Given the description of an element on the screen output the (x, y) to click on. 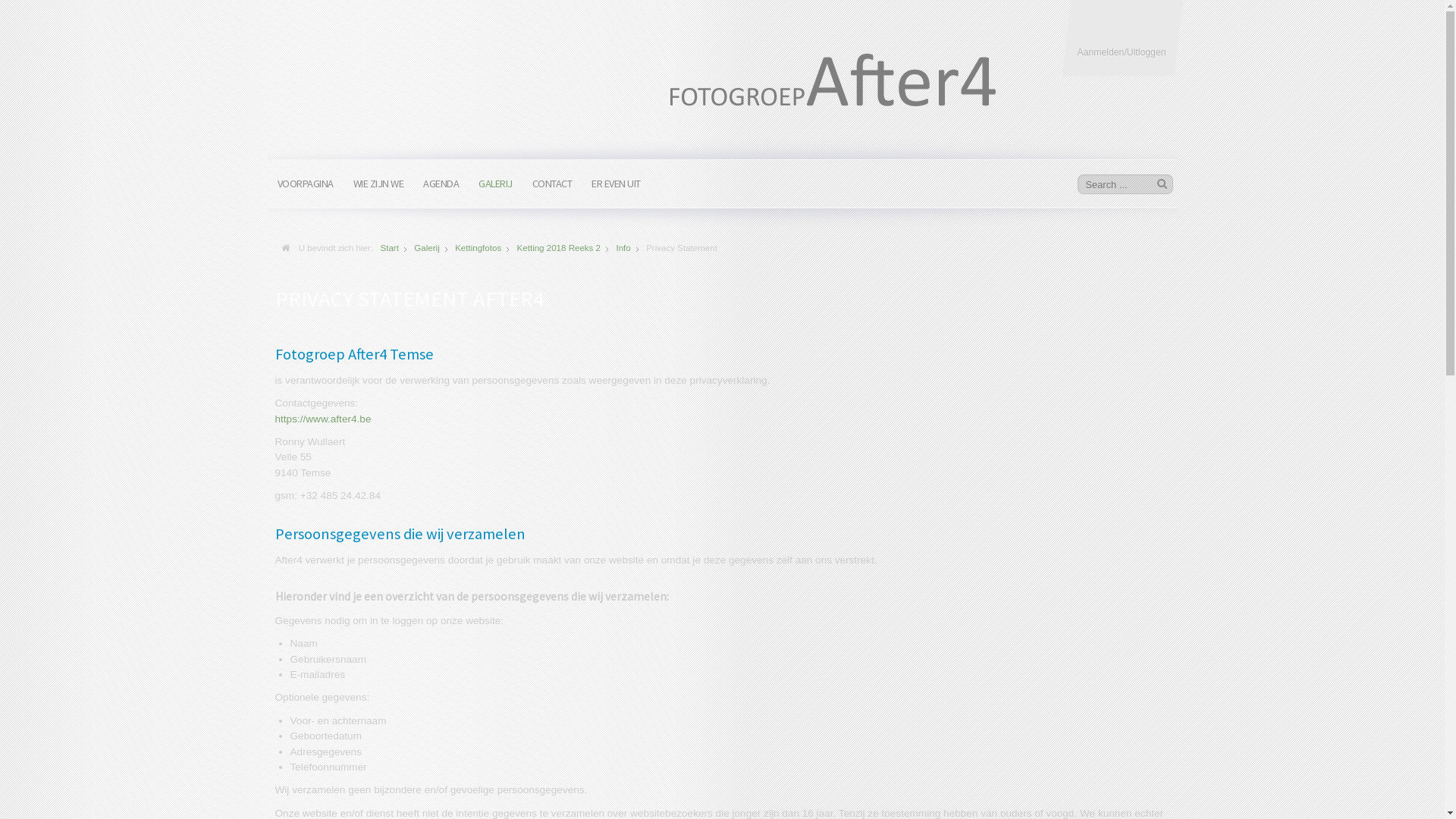
Aanmelden/Uitloggen Element type: text (1121, 37)
CONTACT Element type: text (551, 188)
ER EVEN UIT Element type: text (615, 188)
AGENDA Element type: text (440, 188)
Ketting 2018 Reeks 2 Element type: text (558, 247)
GALERIJ Element type: text (495, 188)
Galerij Element type: text (426, 247)
VOORPAGINA Element type: text (304, 188)
Info Element type: text (622, 247)
https://www.after4.be Element type: text (322, 418)
Kettingfotos Element type: text (478, 247)
Start Element type: text (389, 247)
WIE ZIJN WE Element type: text (377, 188)
